Given the description of an element on the screen output the (x, y) to click on. 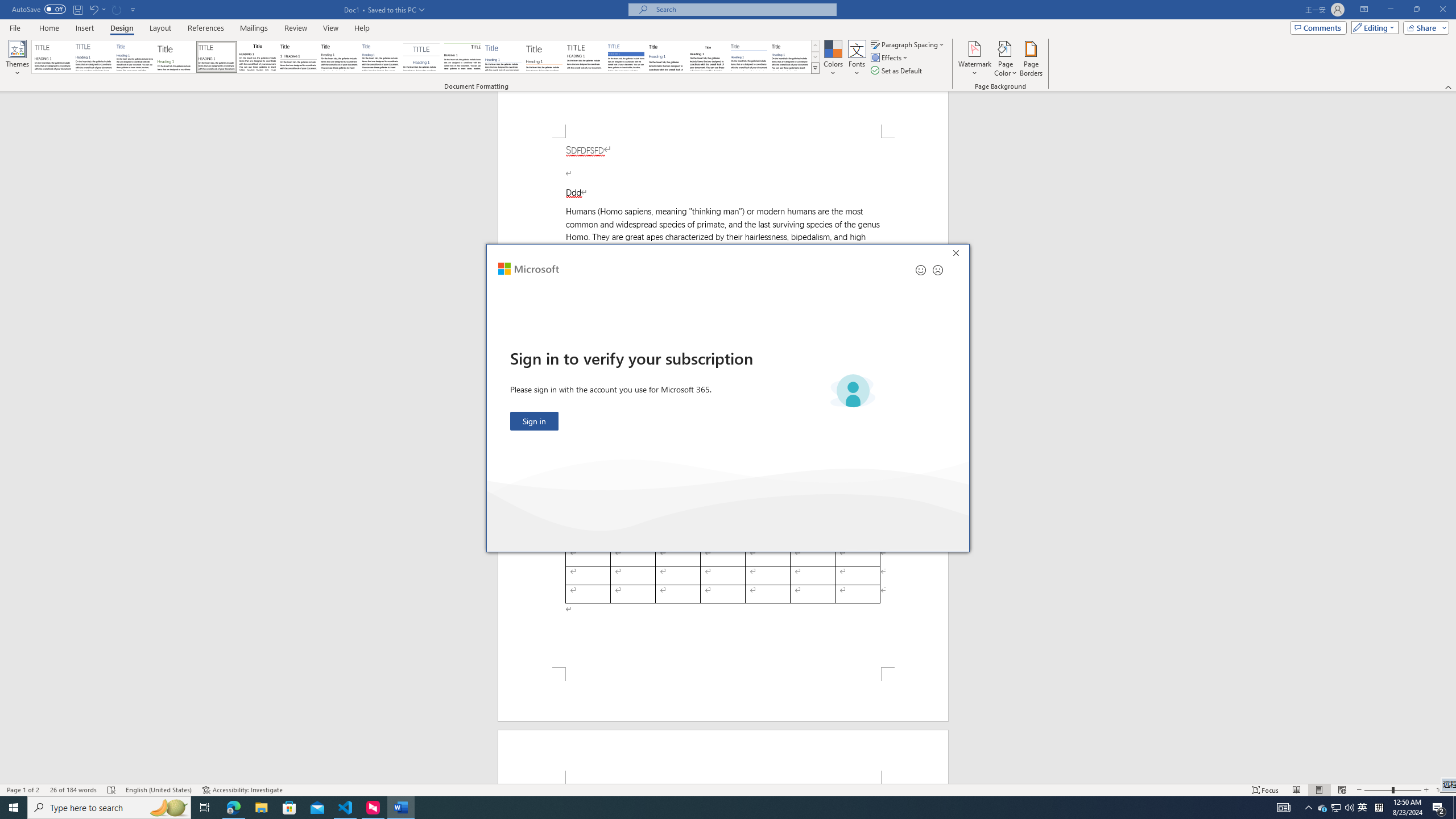
Page Color (1005, 58)
AutomationID: 4105 (1283, 807)
Running applications (700, 807)
Word 2013 (790, 56)
Send a frown for feedback (937, 269)
Task View (1362, 807)
Effects (204, 807)
Black & White (Capitalized) (890, 56)
Word - 1 running window (216, 56)
Themes (400, 807)
Q2790: 100% (17, 58)
